Given the description of an element on the screen output the (x, y) to click on. 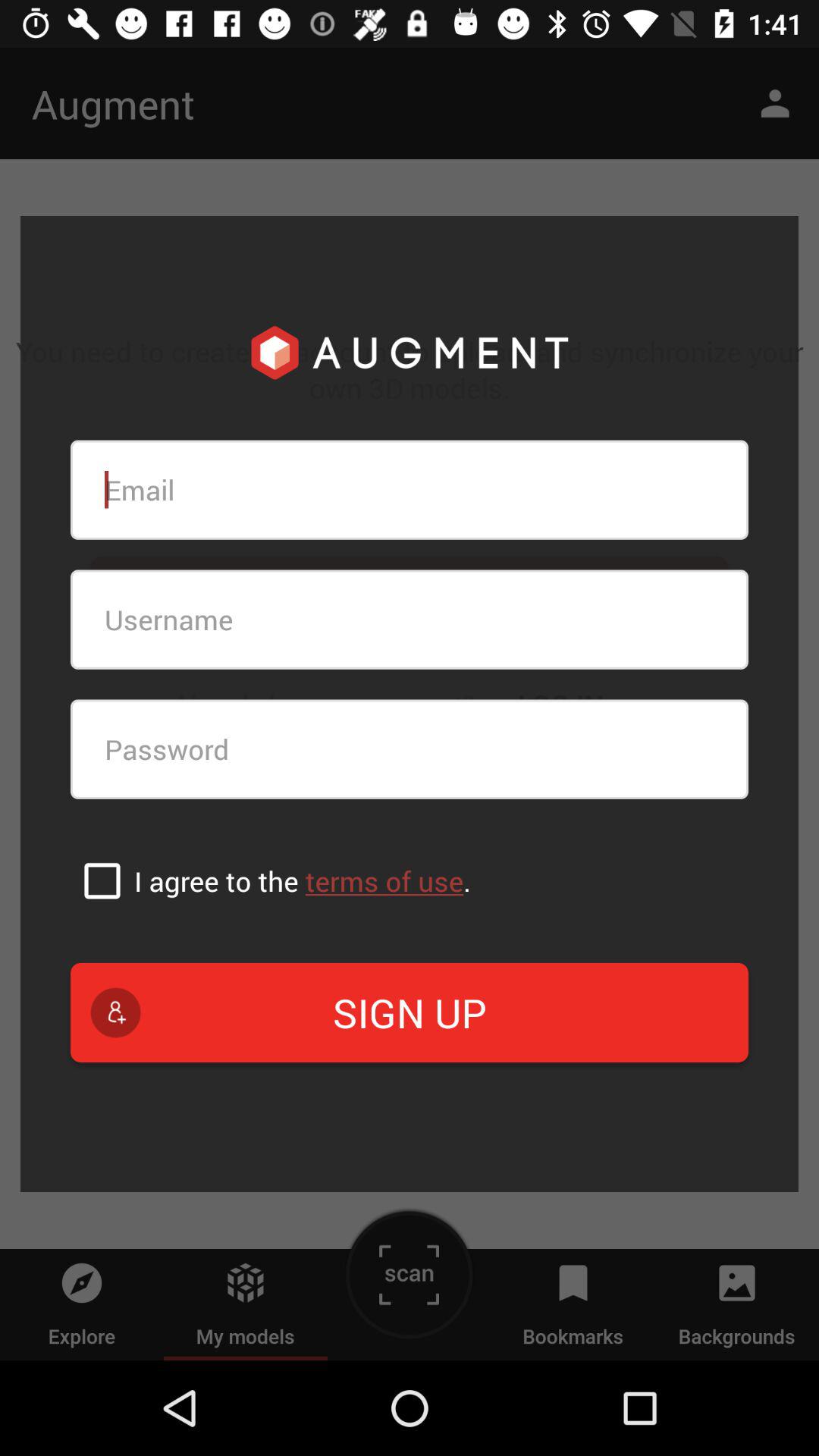
tick icon (102, 880)
